Given the description of an element on the screen output the (x, y) to click on. 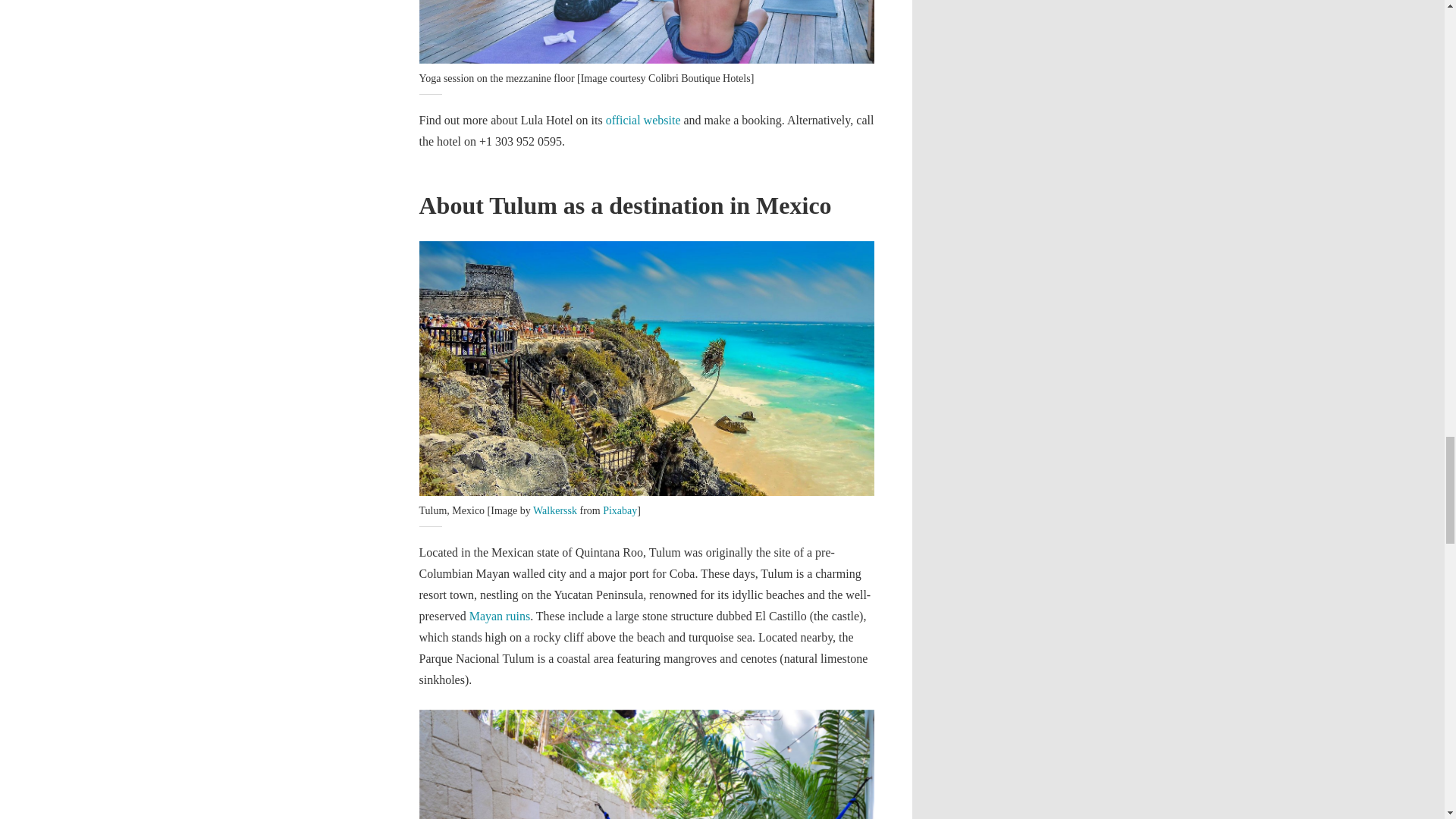
Pixabay (619, 510)
official website (643, 119)
Mayan ruins (498, 615)
Walkerssk (554, 510)
